Given the description of an element on the screen output the (x, y) to click on. 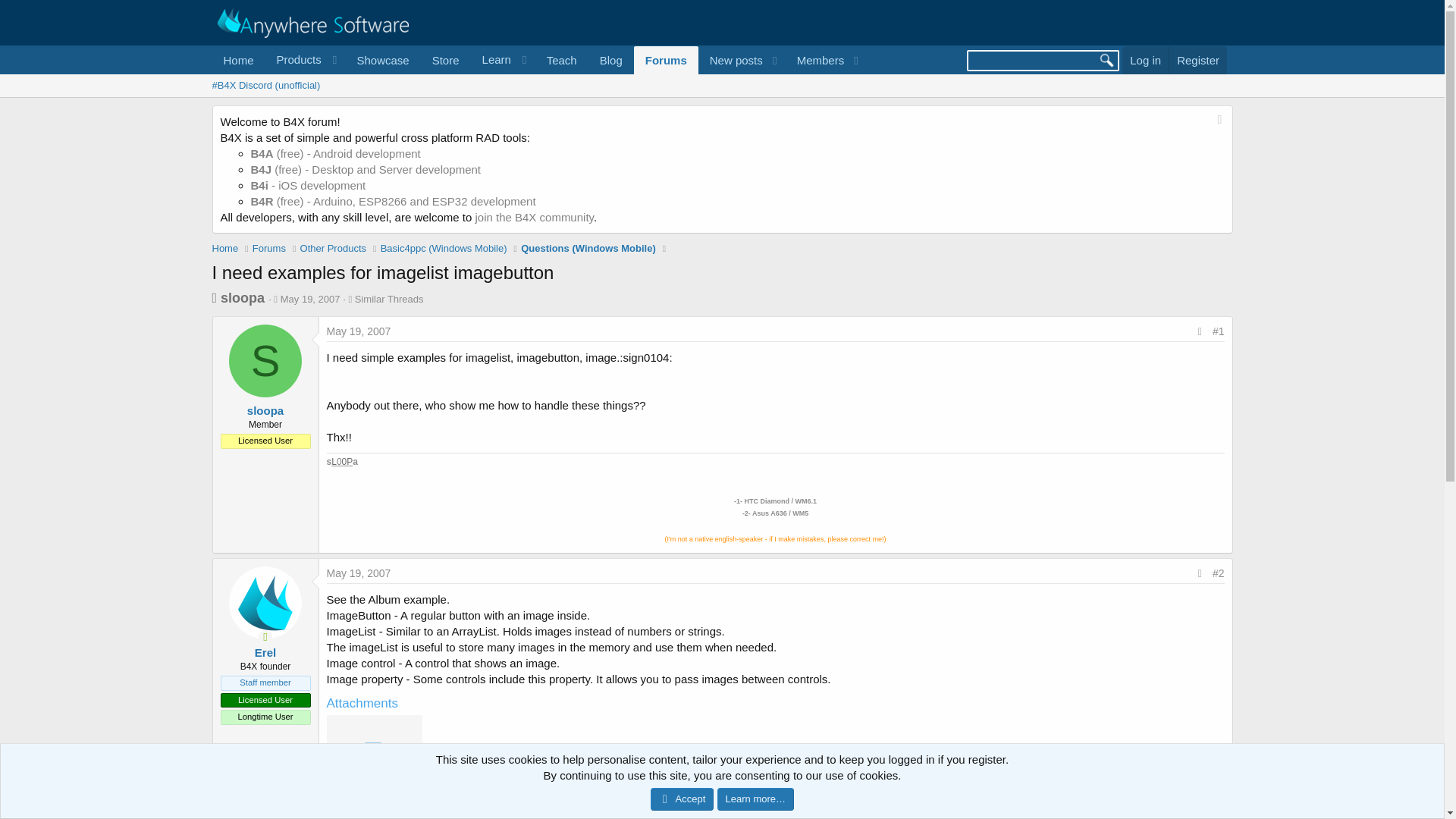
May 19, 2007 at 11:55 AM (358, 331)
Forums (665, 59)
Members (815, 59)
May 19, 2007 at 11:55 AM (310, 298)
Showcase (382, 59)
Teach (561, 59)
Register (1198, 59)
Products (305, 59)
Album.zip (373, 798)
Home (238, 59)
New posts (731, 59)
May 19, 2007 at 2:34 PM (358, 573)
Learn (502, 59)
